Given the description of an element on the screen output the (x, y) to click on. 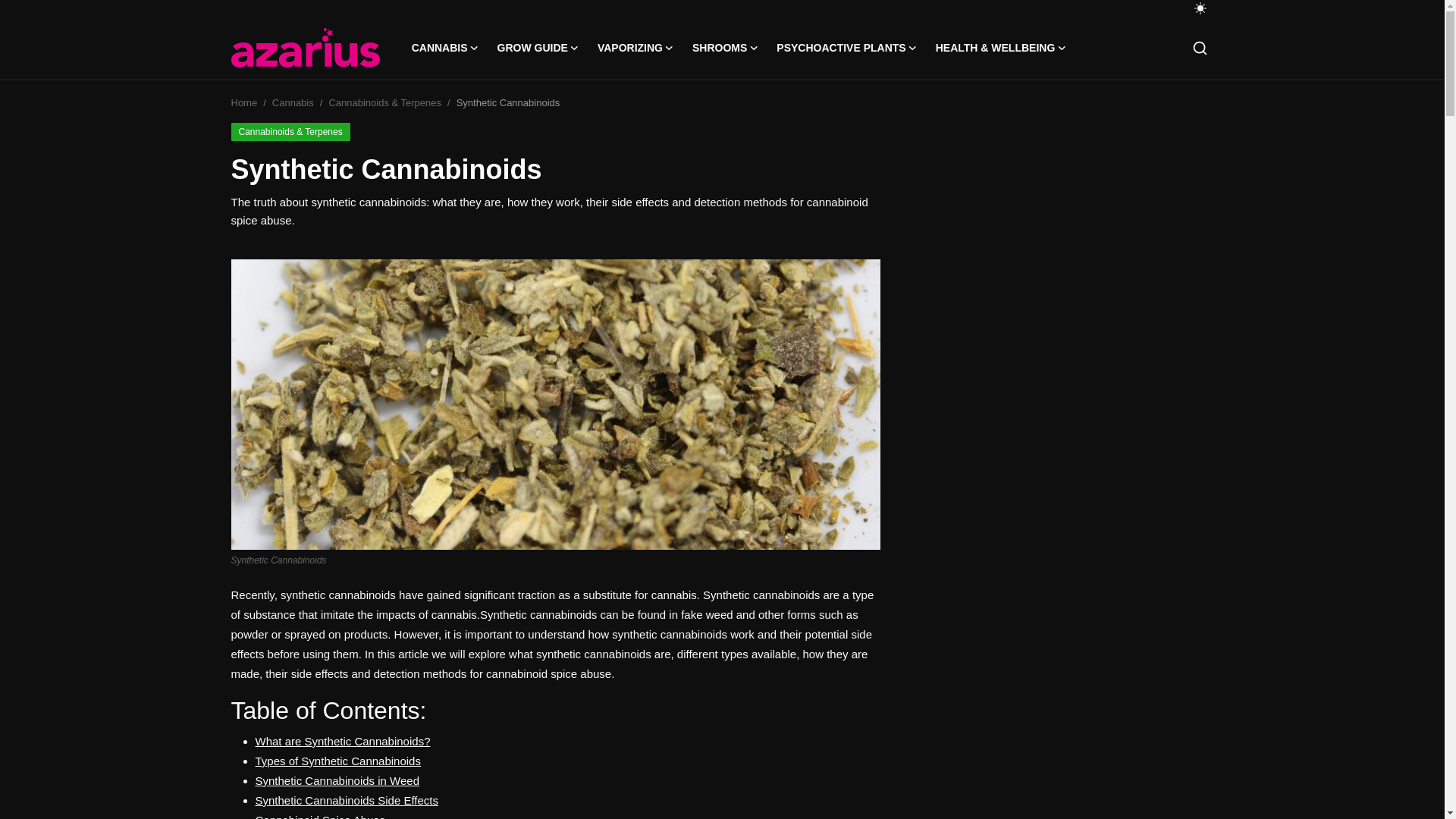
VAPORIZING (635, 47)
CANNABIS (445, 47)
light (1199, 8)
GROW GUIDE (537, 47)
PSYCHOACTIVE PLANTS (846, 47)
SHROOMS (724, 47)
